Given the description of an element on the screen output the (x, y) to click on. 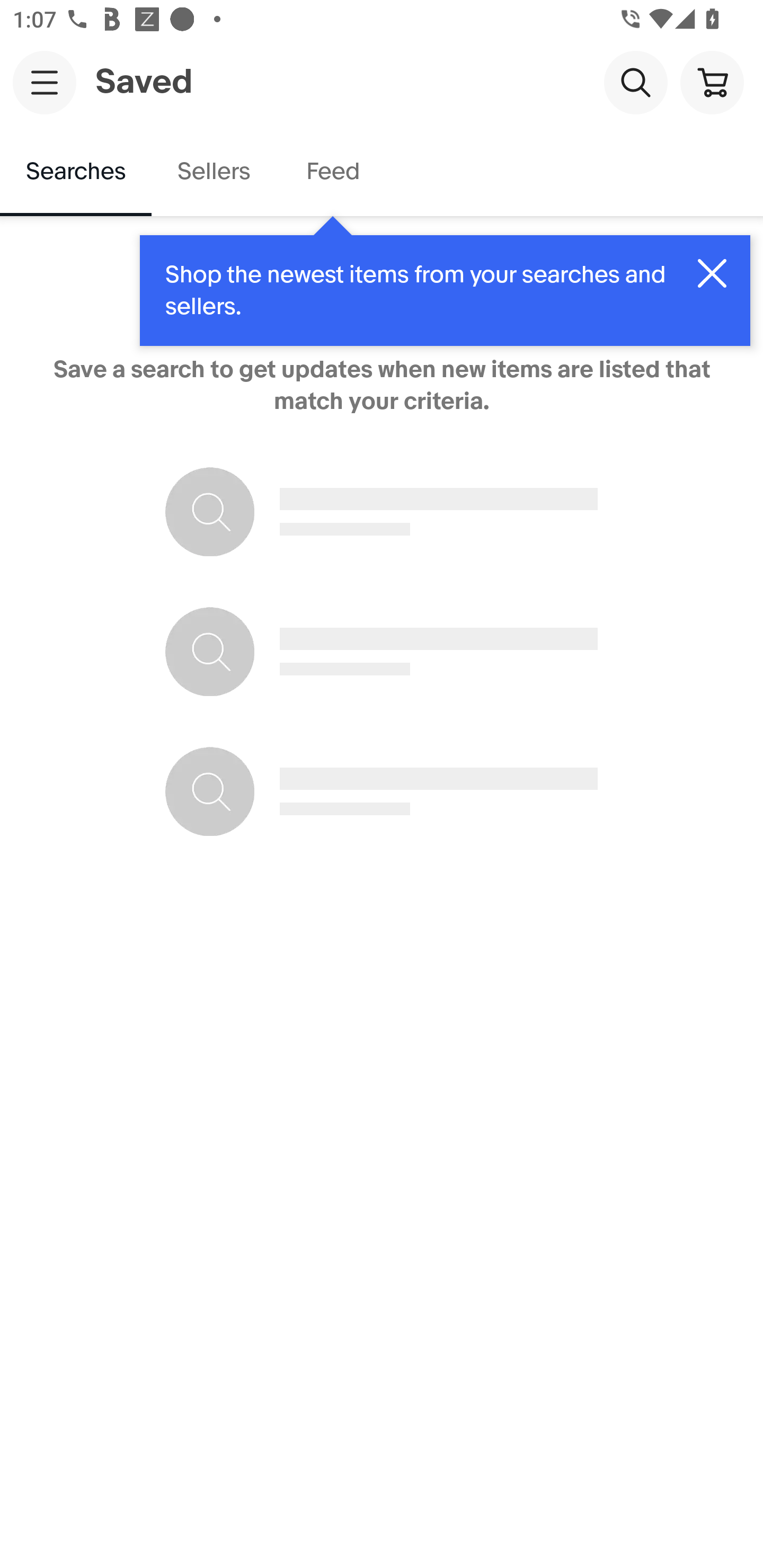
Main navigation, open (44, 82)
Search (635, 81)
Cart button shopping cart (711, 81)
Sellers (213, 171)
Feed (332, 171)
